Given the description of an element on the screen output the (x, y) to click on. 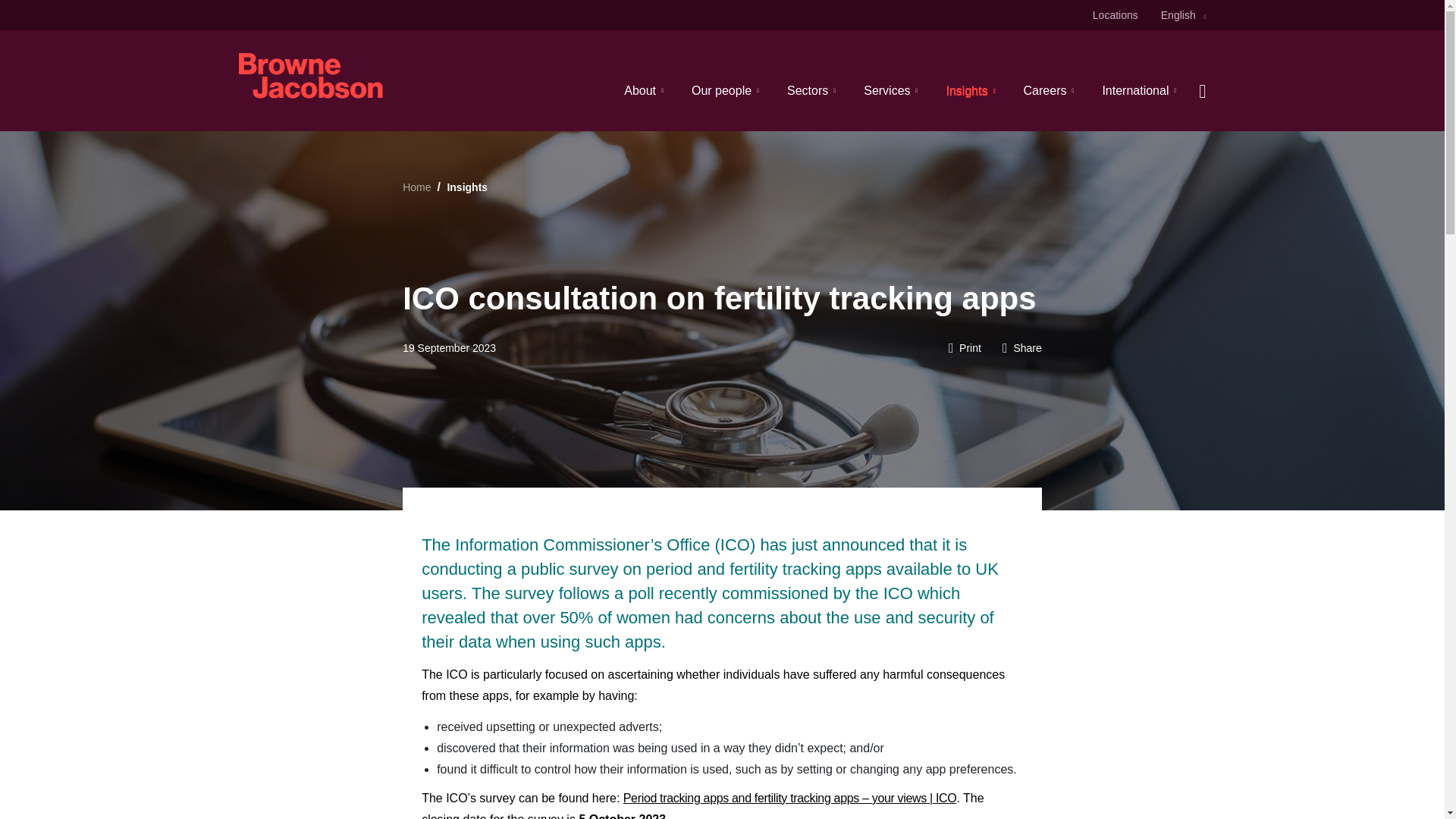
English (1183, 15)
About (643, 90)
Locations (1115, 15)
